Given the description of an element on the screen output the (x, y) to click on. 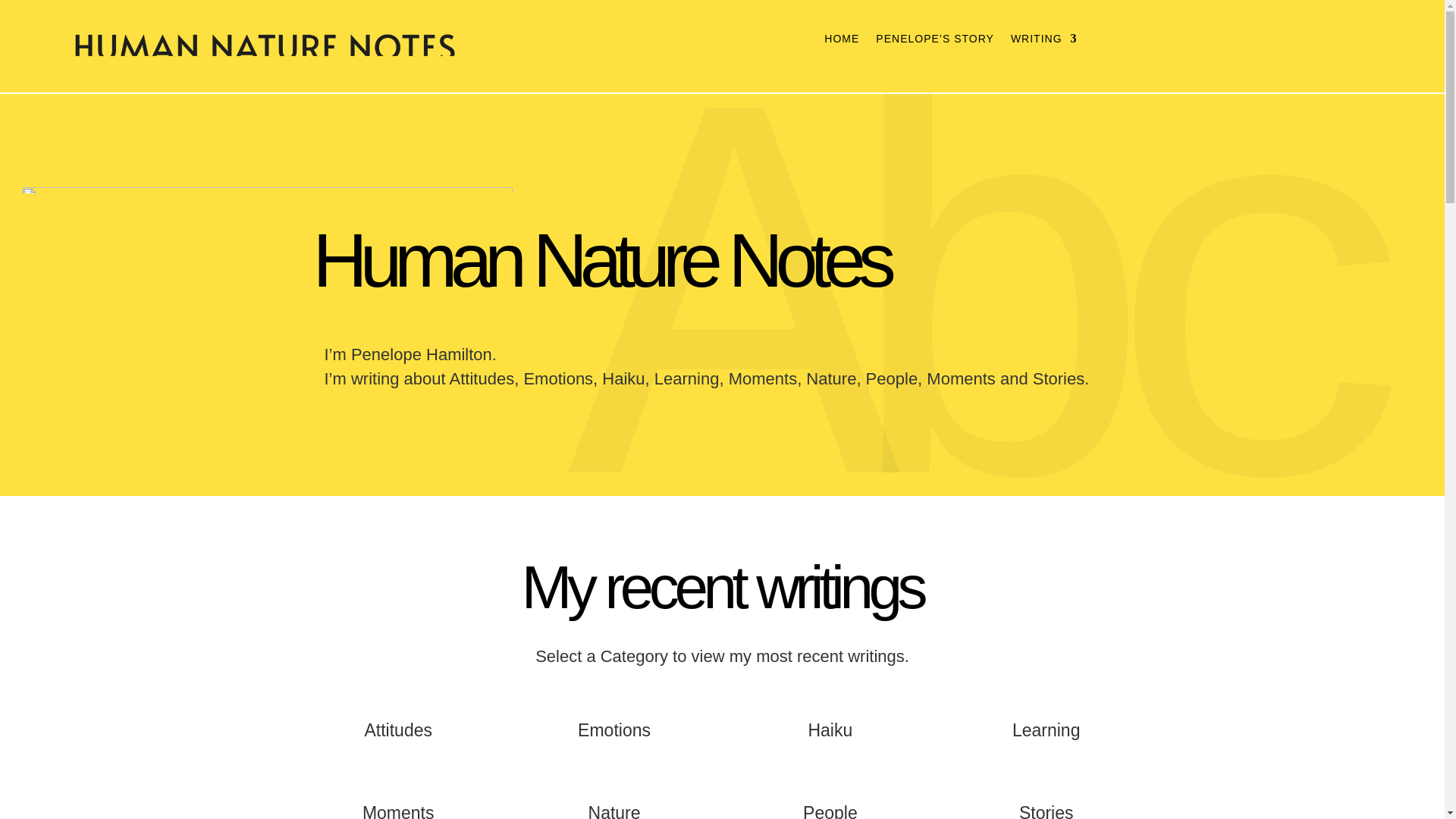
HOME (841, 41)
Black-Logo-900px-Alata (264, 47)
WRITING (1043, 41)
freelance-writer-05 (266, 190)
